Given the description of an element on the screen output the (x, y) to click on. 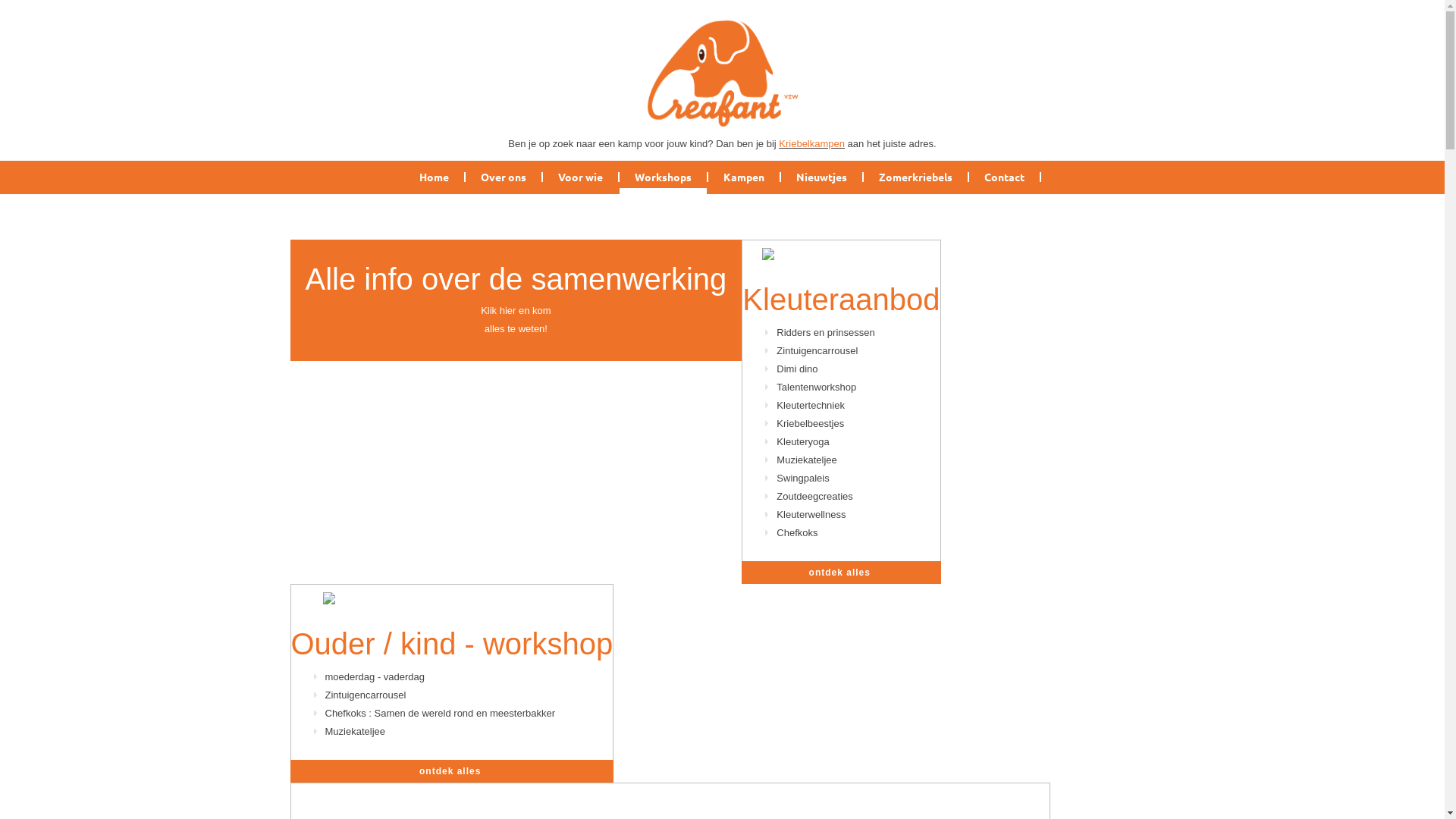
Contact Element type: text (1005, 177)
Voor wie Element type: text (580, 177)
Nieuwtjes Element type: text (822, 177)
Zomerkriebels Element type: text (915, 177)
Workshops Element type: text (662, 177)
Home Element type: text (433, 177)
Kampen Element type: text (744, 177)
ontdek alles Element type: text (451, 770)
Kriebelkampen Element type: text (811, 143)
ontdek alles Element type: text (840, 572)
Over ons Element type: text (503, 177)
